Given the description of an element on the screen output the (x, y) to click on. 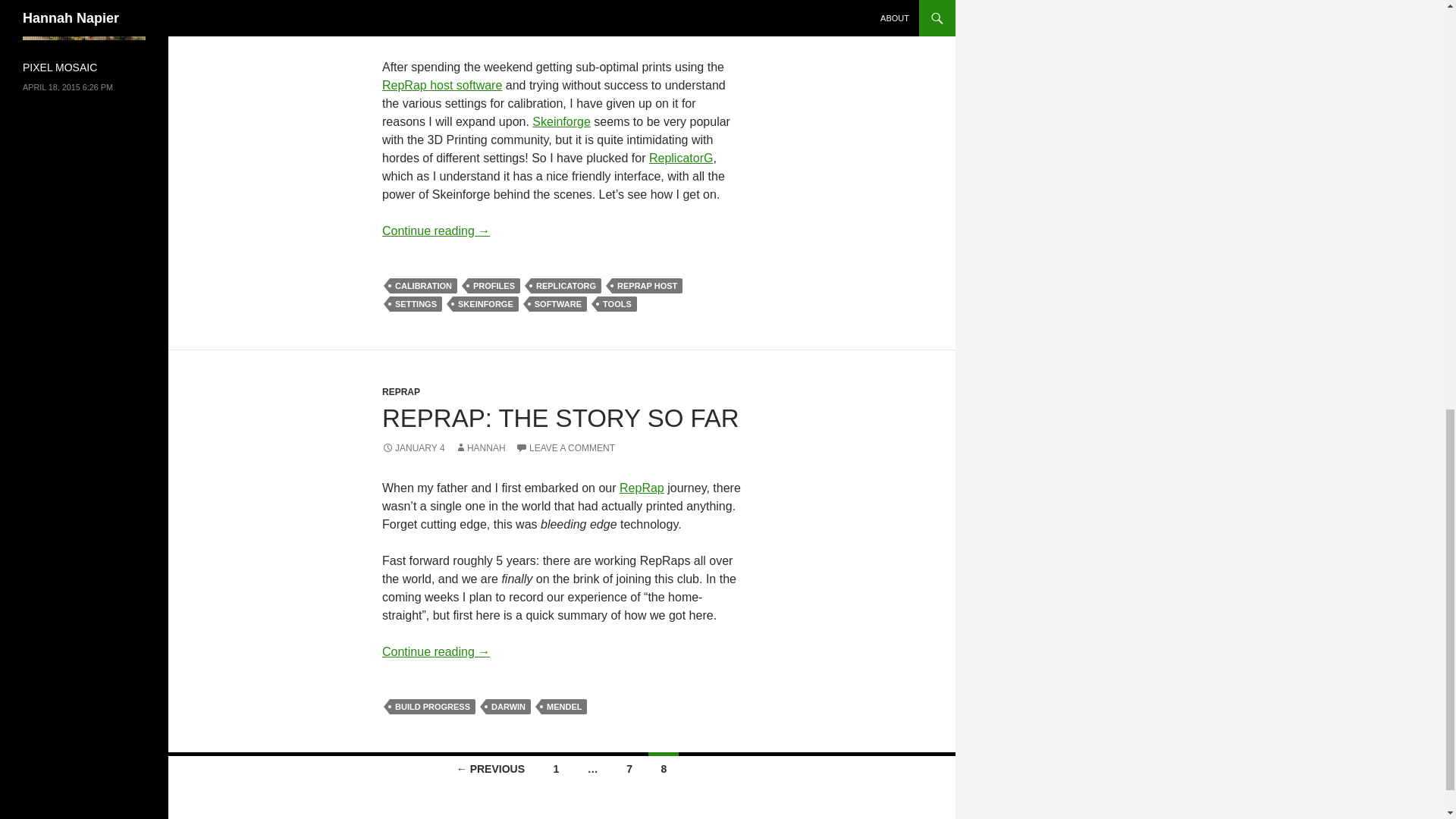
HANNAH (485, 27)
Skeinforge Wiki (561, 121)
Skeinforge (561, 121)
RepRap Host Software (441, 84)
RepRap host software (441, 84)
LEAVE A COMMENT (570, 27)
ReplicatorG (681, 157)
ReplicatorG Home  (681, 157)
JANUARY 10 (415, 27)
GOODBYE REPRAP HOST SOFTWARE, HELLO REPG (539, 5)
